Given the description of an element on the screen output the (x, y) to click on. 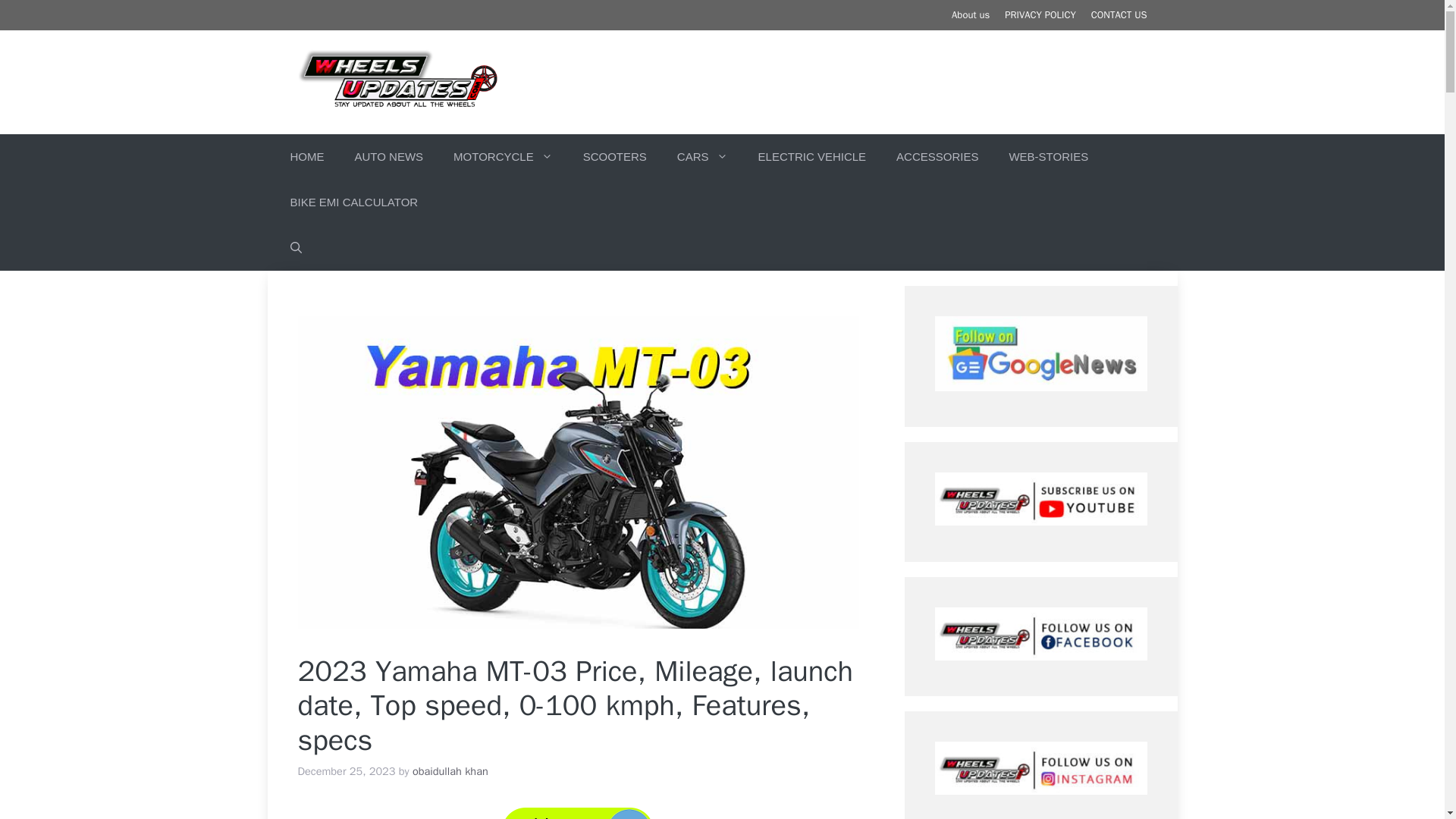
PRIVACY POLICY (1039, 14)
CONTACT US (1118, 14)
CARS (702, 156)
MOTORCYCLE (502, 156)
obaidullah khan (449, 771)
ELECTRIC VEHICLE (812, 156)
AUTO NEWS (389, 156)
Advertisement (870, 79)
About us (971, 14)
View all posts by obaidullah khan (449, 771)
